Given the description of an element on the screen output the (x, y) to click on. 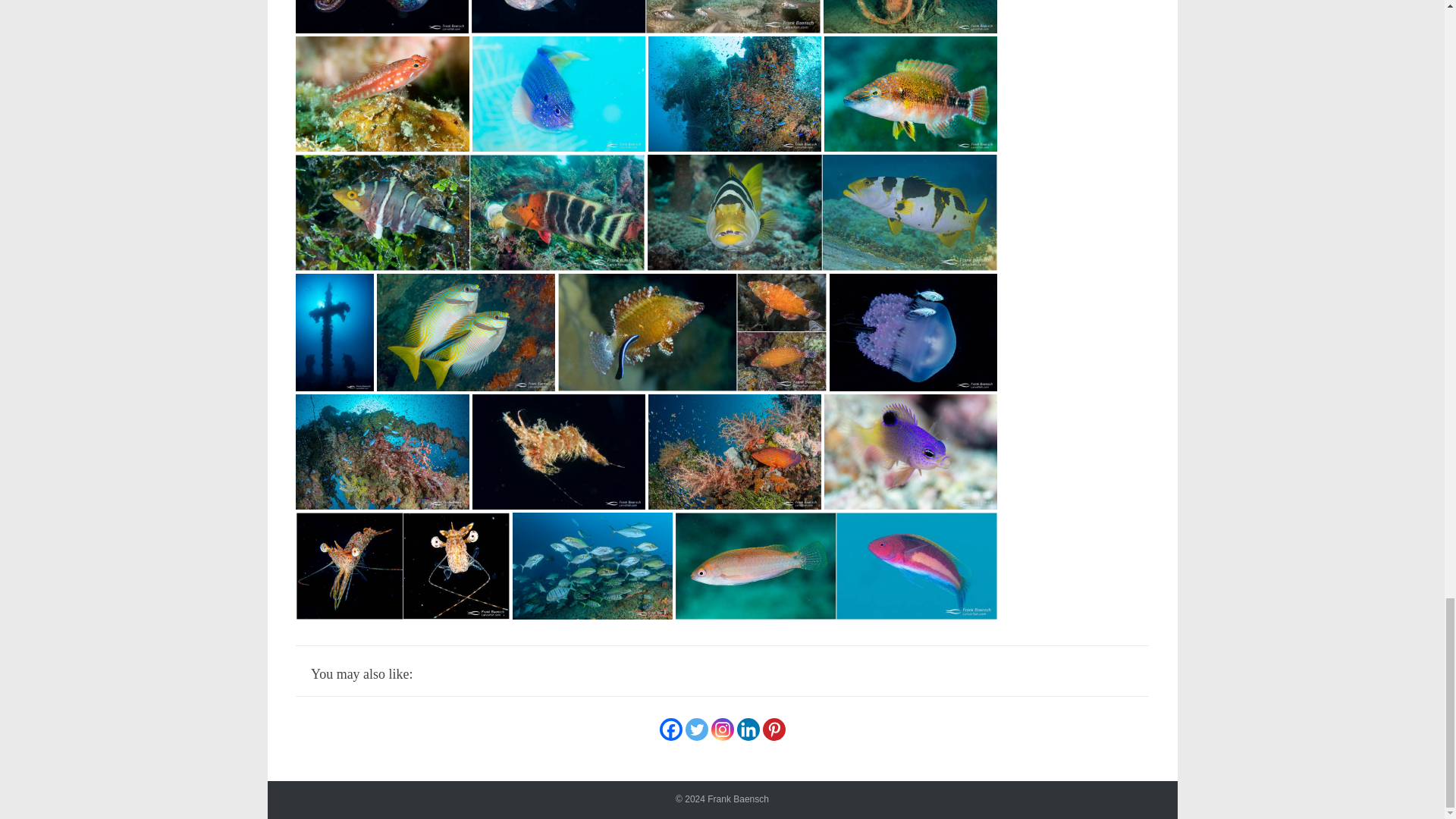
Twitter (696, 729)
Instagram (722, 729)
Facebook (670, 729)
Pinterest (774, 729)
Linkedin (748, 729)
